Given the description of an element on the screen output the (x, y) to click on. 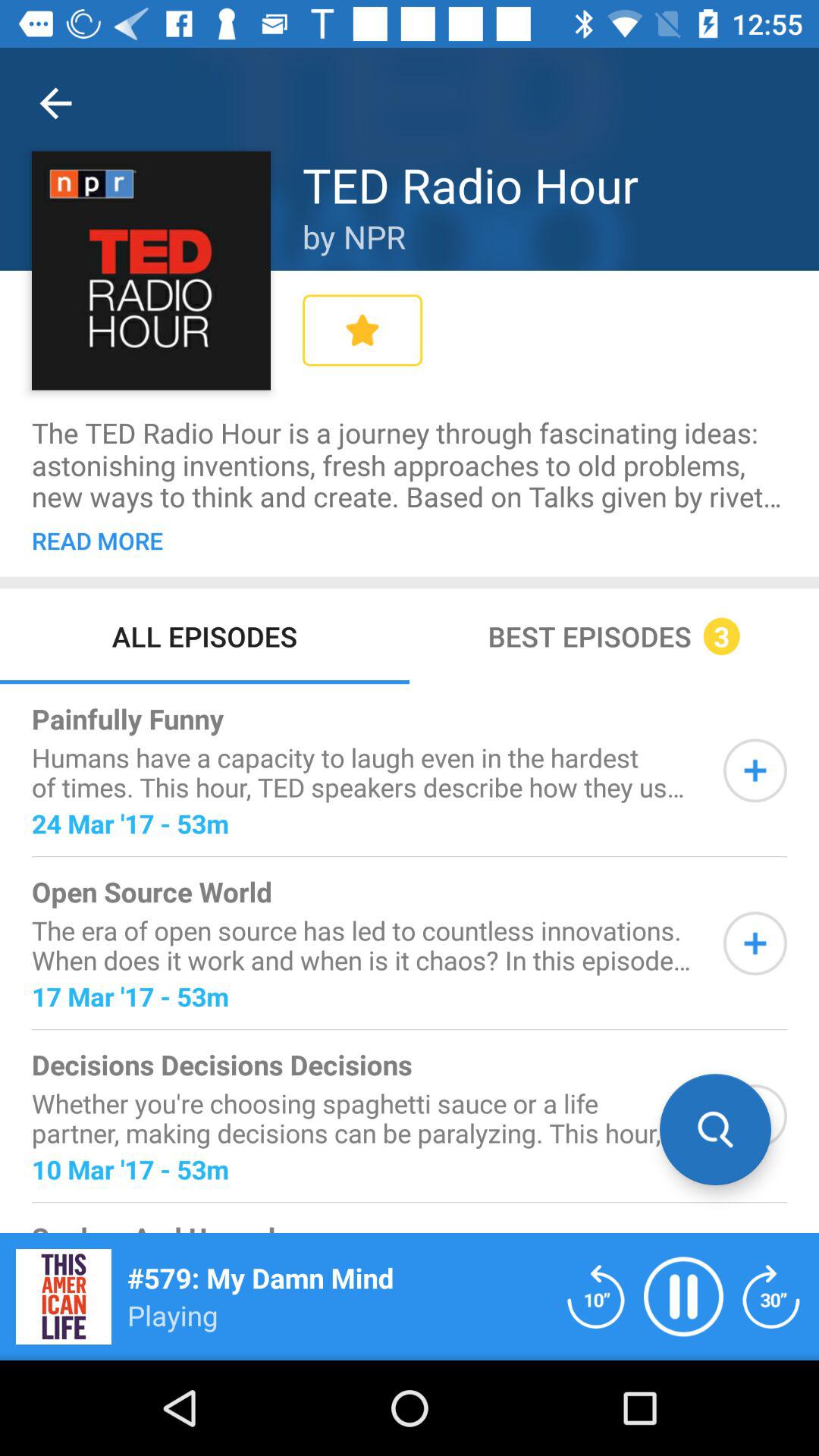
open topic (755, 1116)
